Given the description of an element on the screen output the (x, y) to click on. 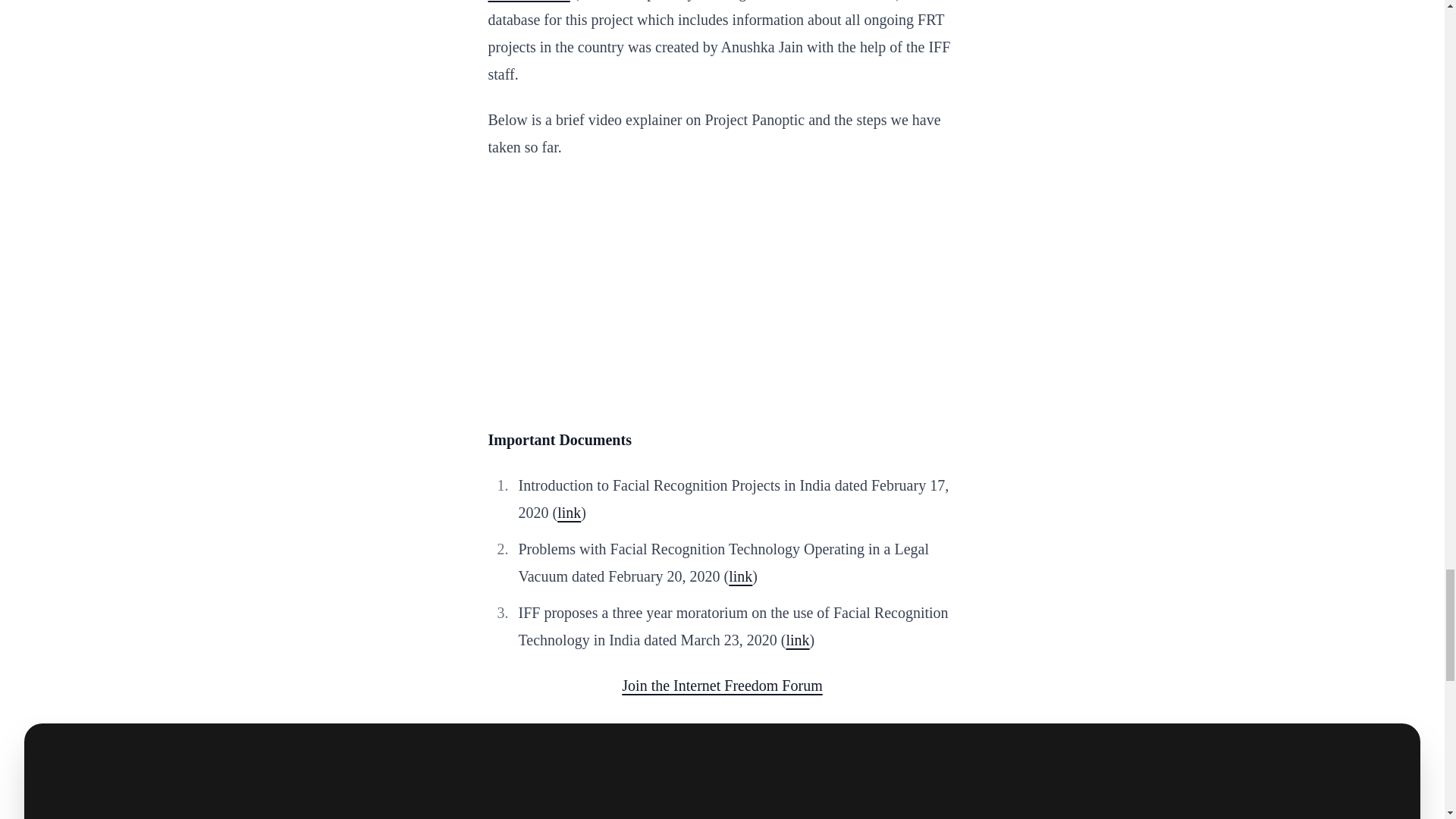
link (797, 639)
link (740, 576)
Join the Internet Freedom Forum (721, 685)
link (568, 512)
